Given the description of an element on the screen output the (x, y) to click on. 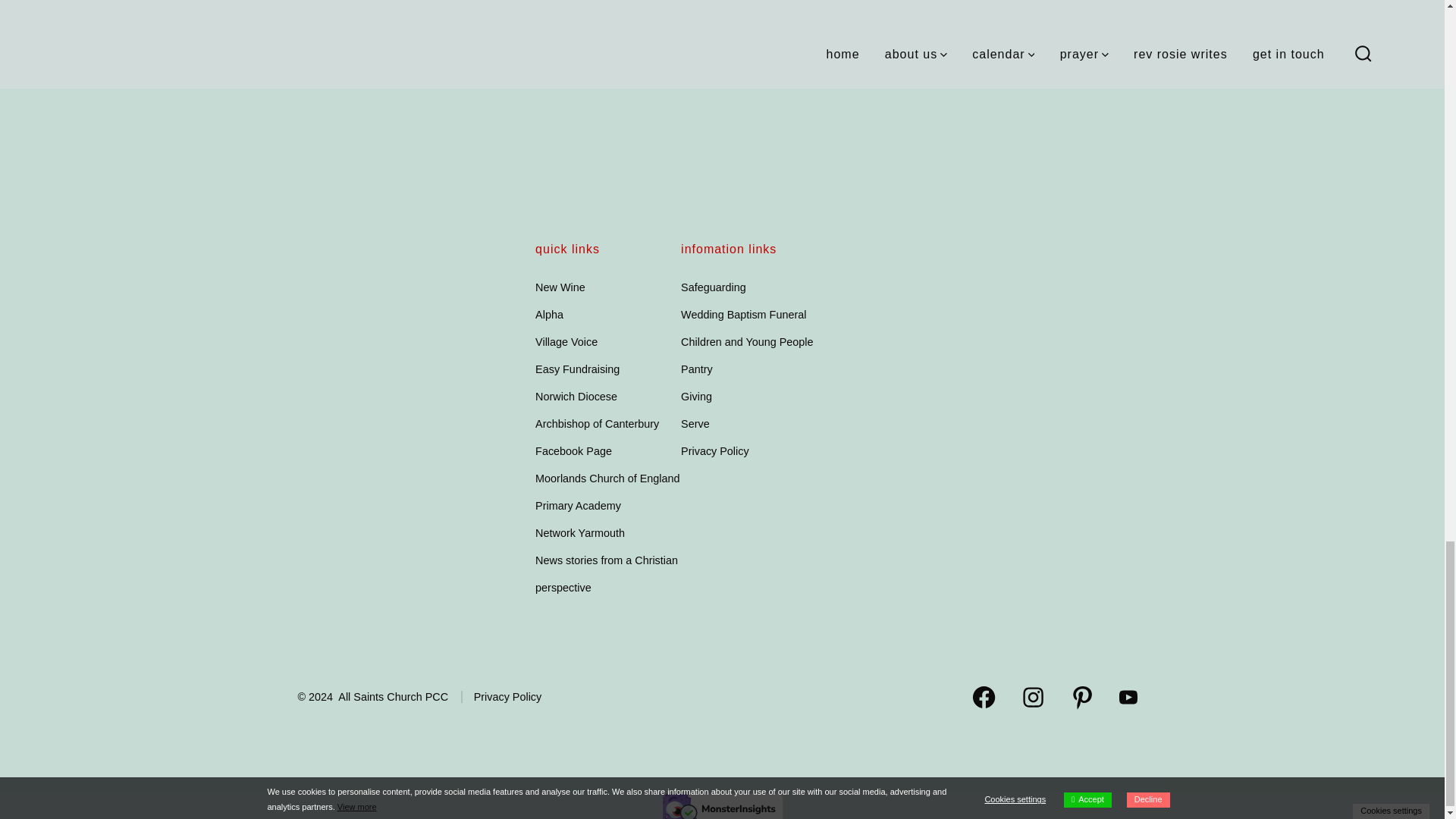
Alpha (549, 314)
Village Voice (565, 341)
Open Facebook in a new tab (983, 697)
Norwich Diocese (576, 396)
New Wine (560, 287)
Privacy Policy (501, 695)
Network Yarmouth (579, 532)
News stories from a Christian perspective (606, 573)
Privacy Policy (715, 451)
Easy Fundraising (577, 369)
